Given the description of an element on the screen output the (x, y) to click on. 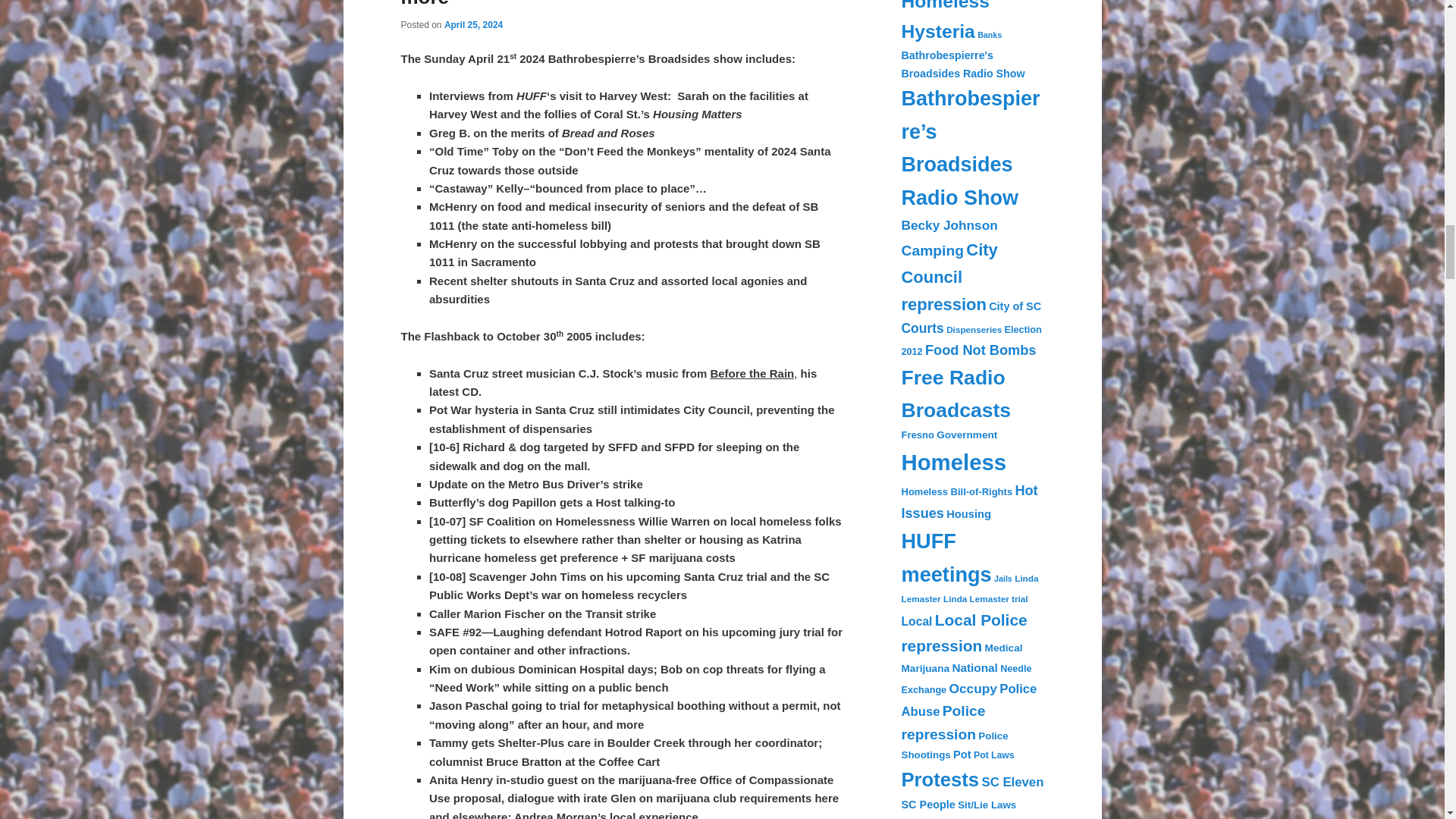
1:44 pm (473, 24)
April 25, 2024 (473, 24)
